Given the description of an element on the screen output the (x, y) to click on. 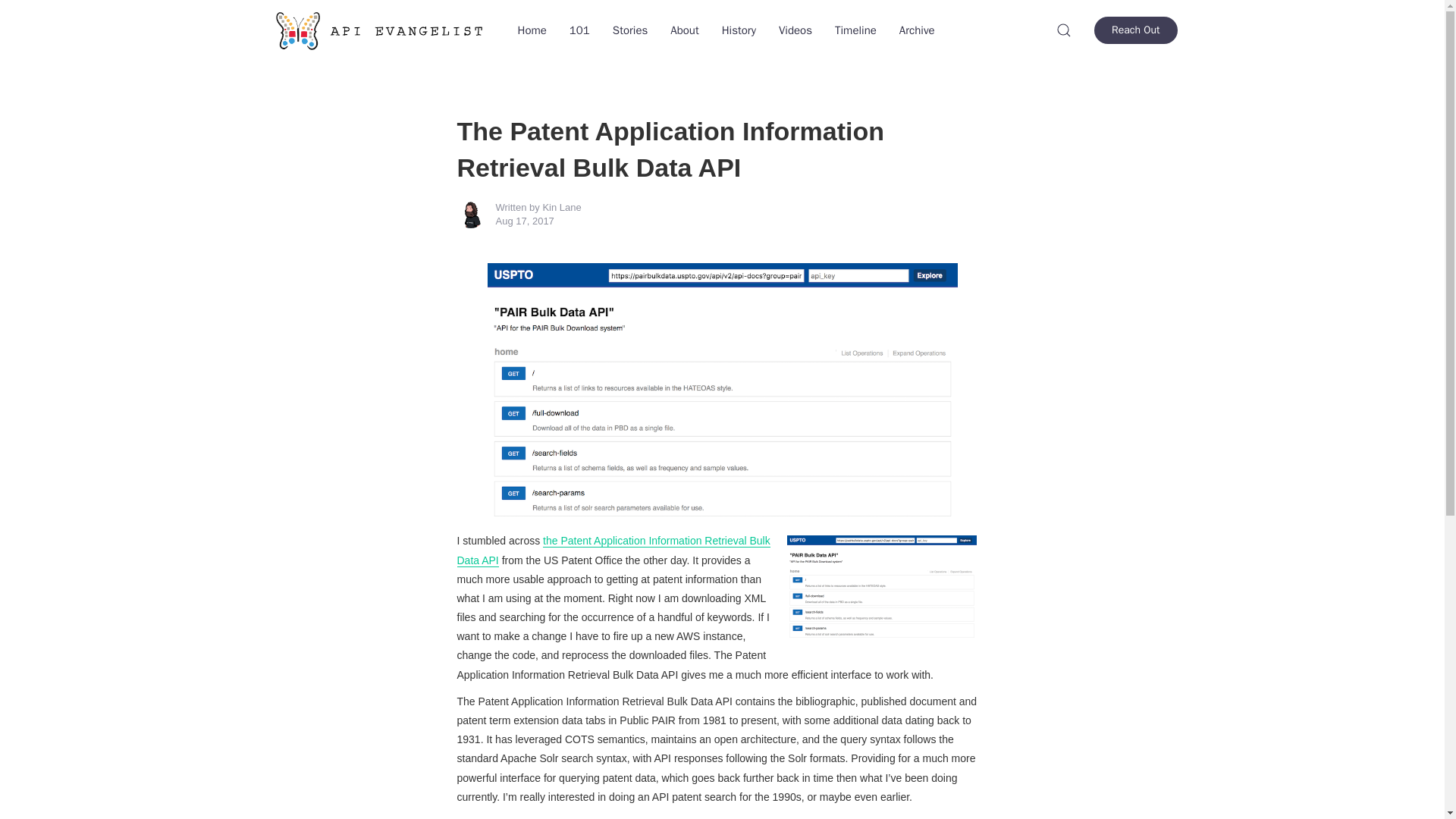
Timeline (856, 30)
Reach Out (1135, 30)
the Patent Application Information Retrieval Bulk Data API (613, 550)
History (738, 30)
Videos (795, 30)
Archive (917, 30)
Stories (630, 30)
